Given the description of an element on the screen output the (x, y) to click on. 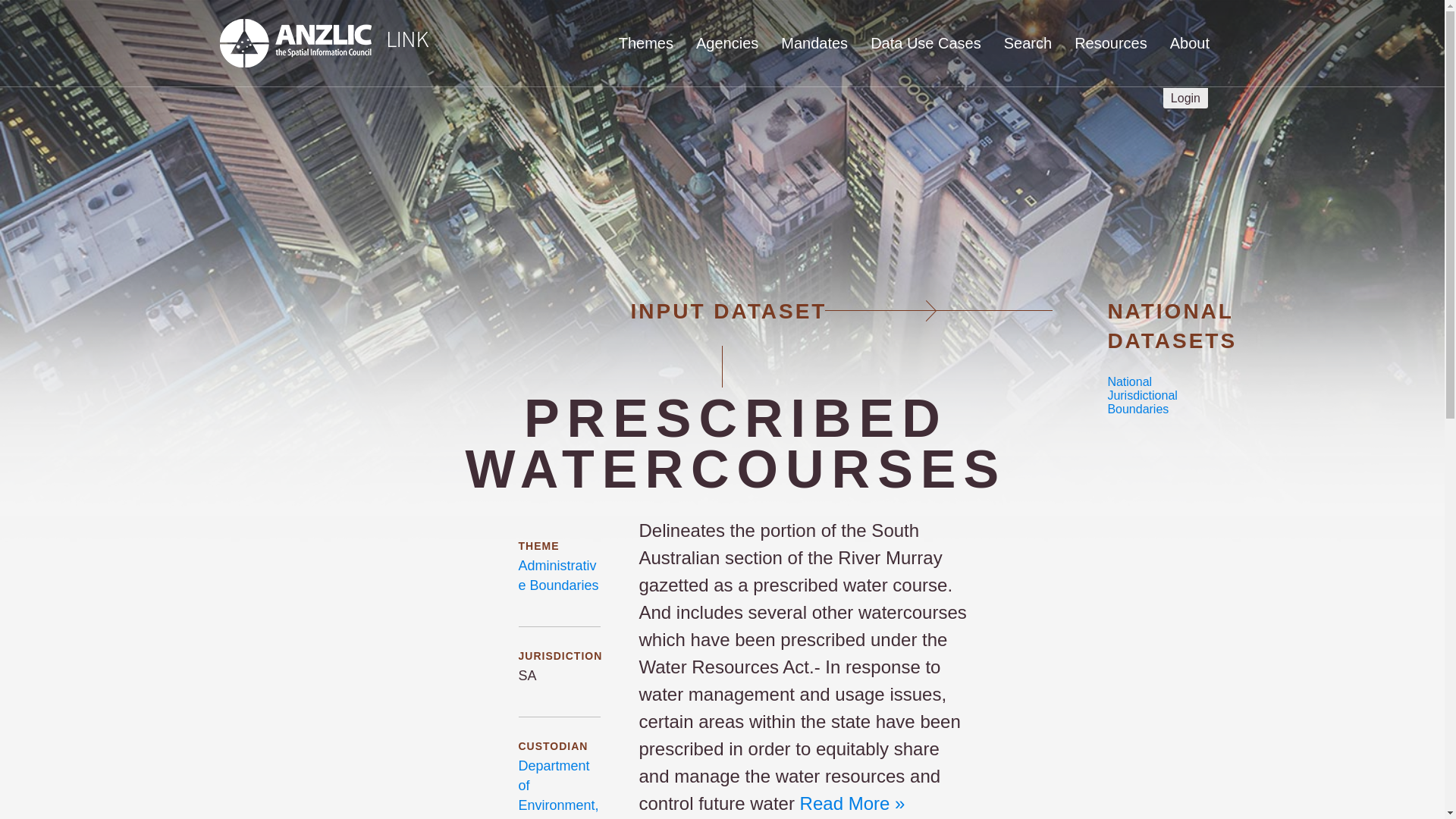
Home (446, 128)
Agencies (726, 42)
Administrative Boundaries (558, 574)
Themes (646, 42)
Resources (1110, 42)
National Jurisdictional Boundaries (1141, 395)
Mandates (814, 42)
Home (323, 43)
THE LOCATION INFORMATION KNOWLEDGE PLATFORM (446, 128)
Data Use Cases (925, 42)
Log in to site (1185, 97)
Department of Environment, Water and Natural Resources (558, 788)
Login (1185, 97)
